Given the description of an element on the screen output the (x, y) to click on. 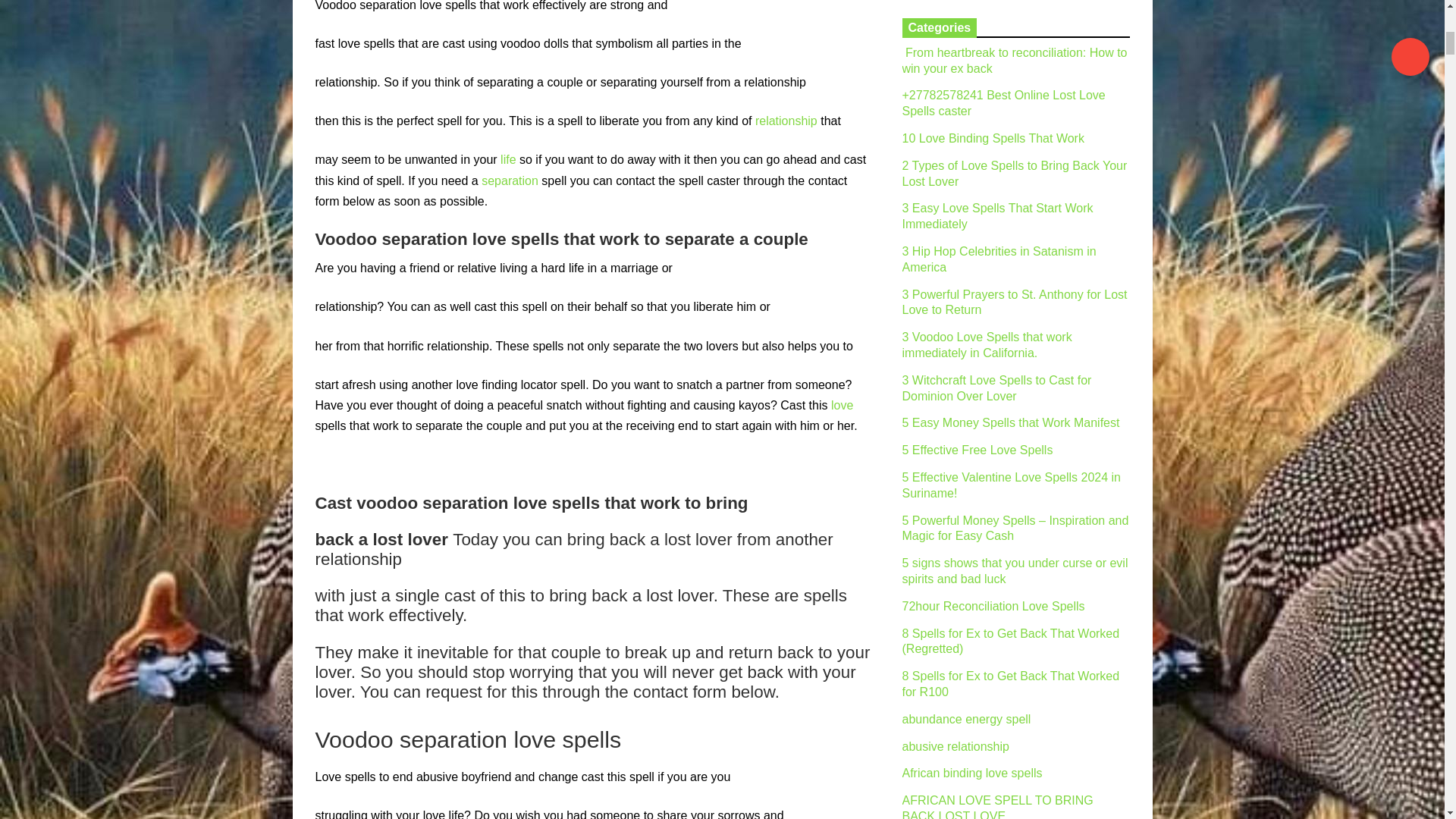
separation (509, 180)
life (507, 159)
relationship (785, 120)
love (842, 404)
